Given the description of an element on the screen output the (x, y) to click on. 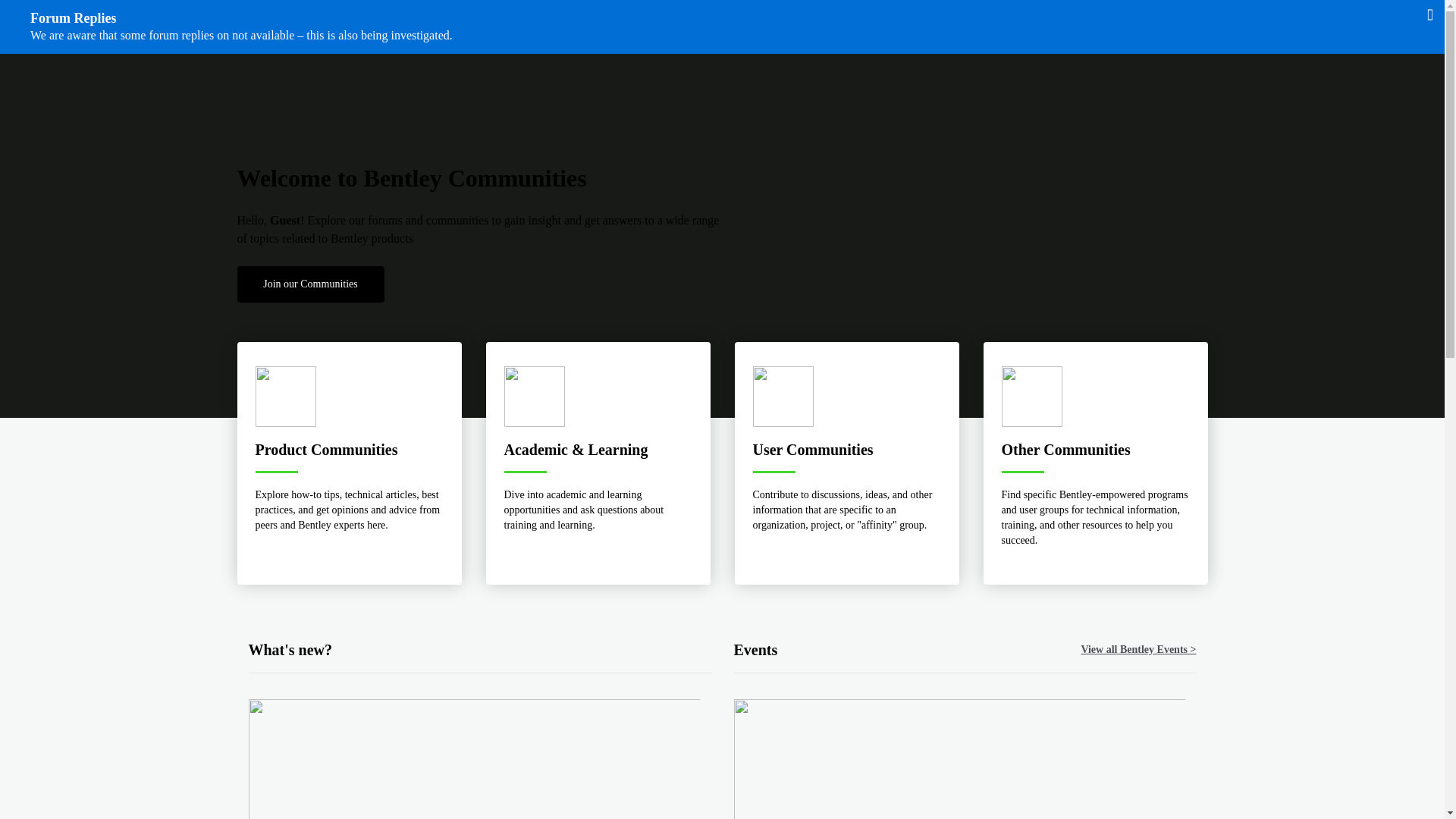
Dismiss announcement Forum Replies (1430, 14)
Join our Communities (309, 284)
